Given the description of an element on the screen output the (x, y) to click on. 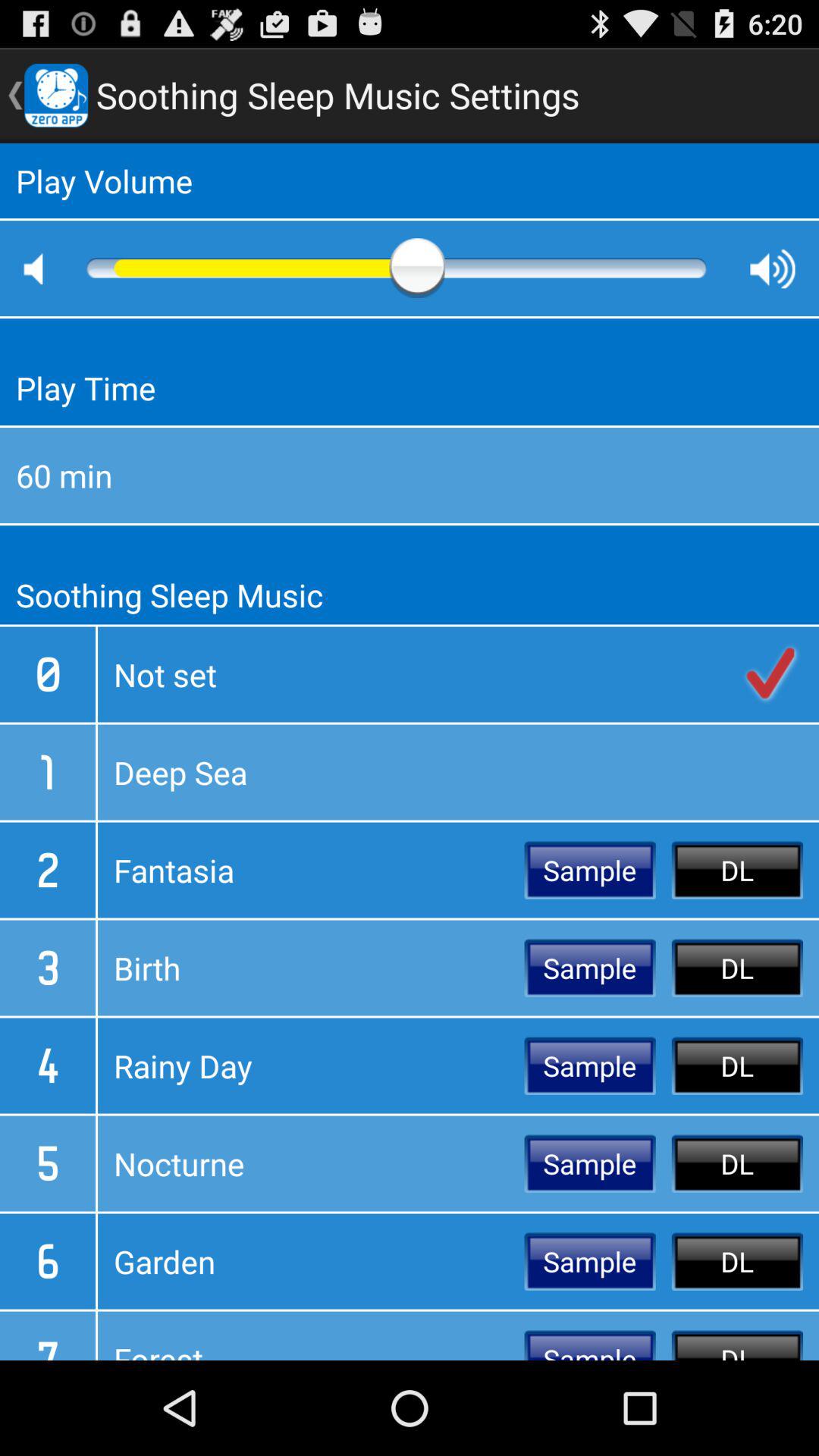
press the icon next to the sample icon (310, 1335)
